Given the description of an element on the screen output the (x, y) to click on. 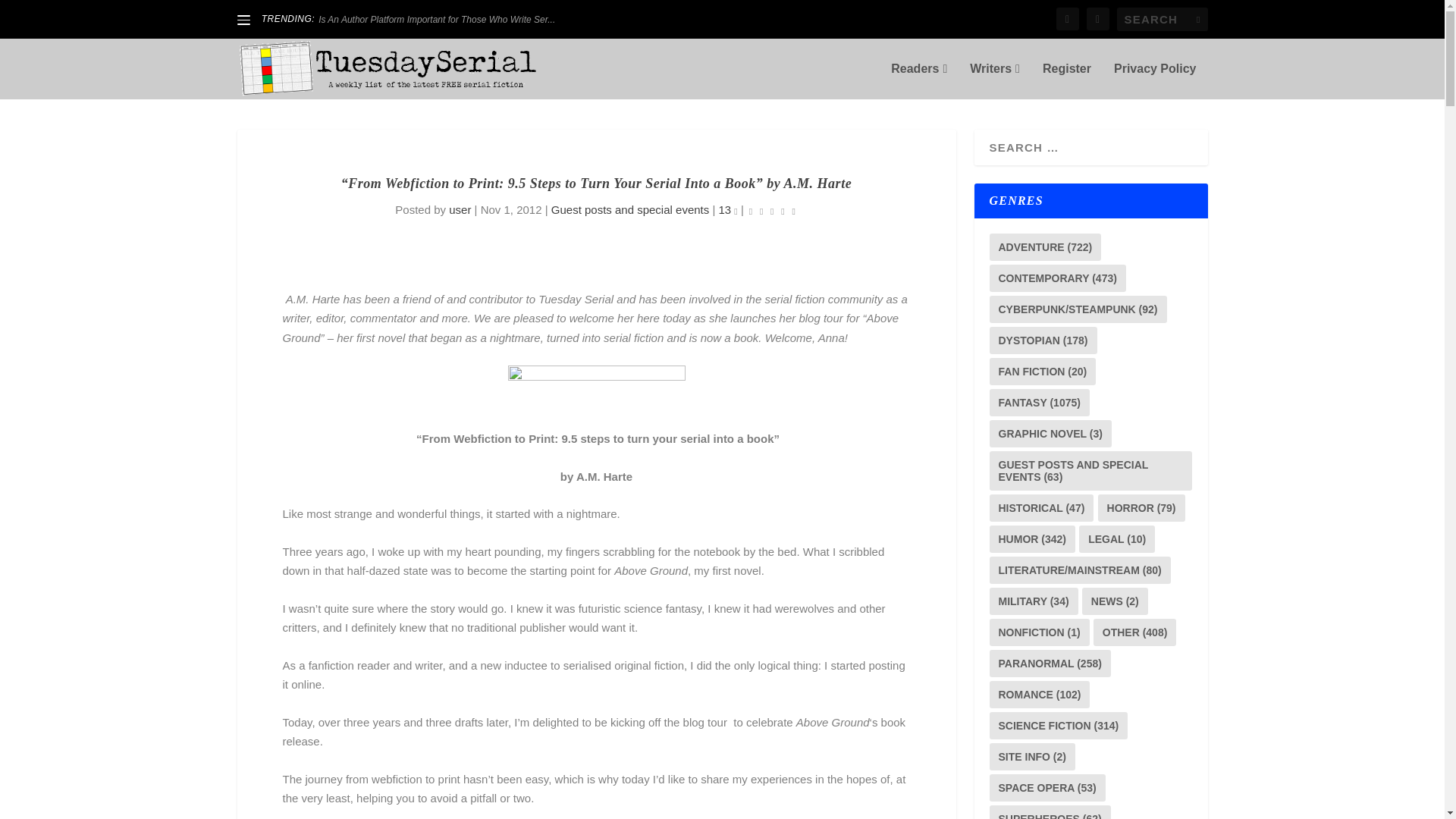
above-ground-tour-banner (596, 388)
Search for: (1161, 19)
Writers (994, 81)
Posts by user (459, 209)
Privacy Policy (1154, 81)
comment count (734, 210)
Register (1066, 81)
Readers (919, 81)
Rating: 0.00 (771, 210)
Is An Author Platform Important for Those Who Write Ser... (436, 19)
